Given the description of an element on the screen output the (x, y) to click on. 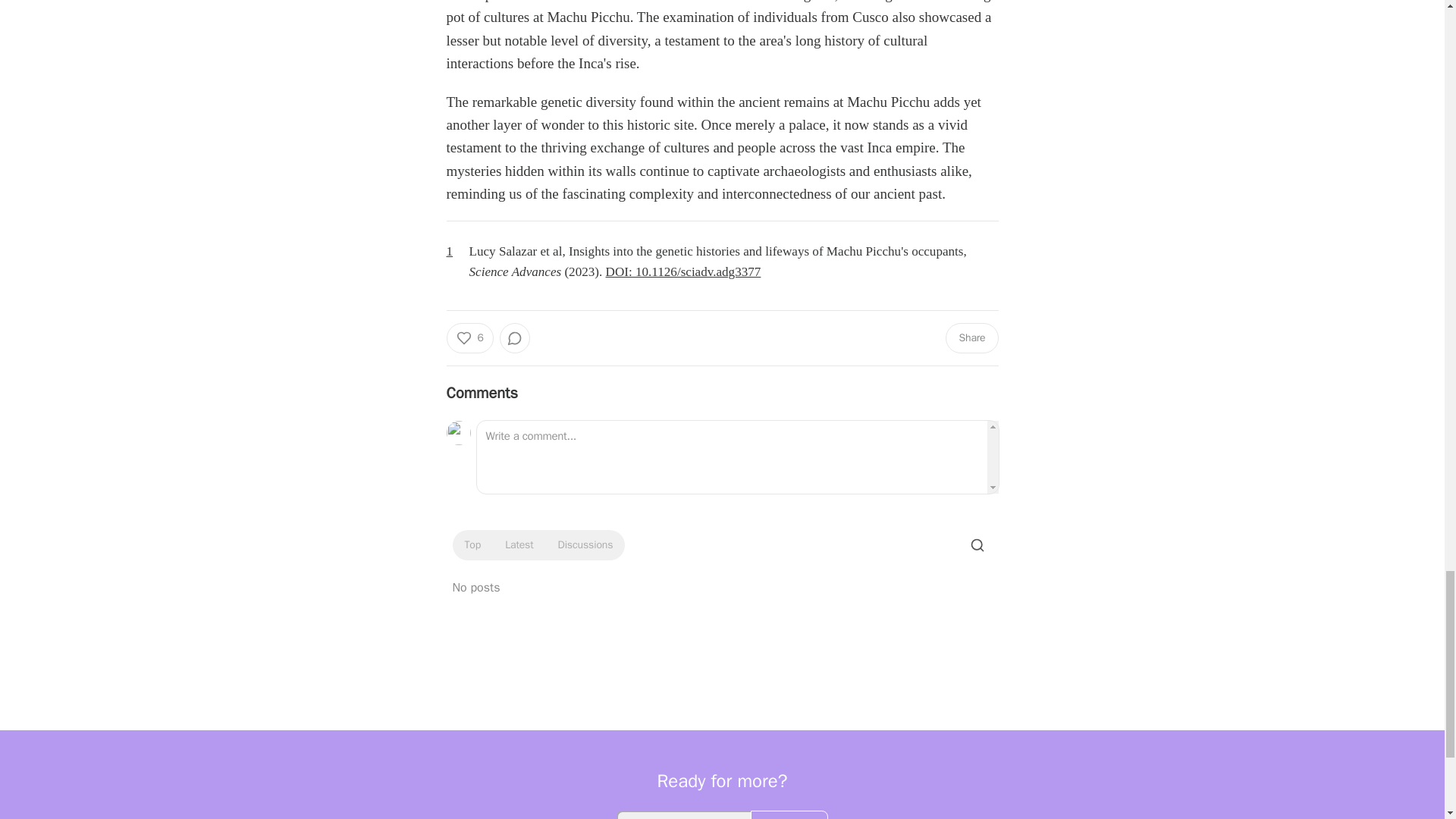
Discussions (585, 545)
Share (970, 337)
6 (469, 337)
Latest (518, 545)
Subscribe (789, 814)
1 (454, 251)
Top (471, 545)
